Given the description of an element on the screen output the (x, y) to click on. 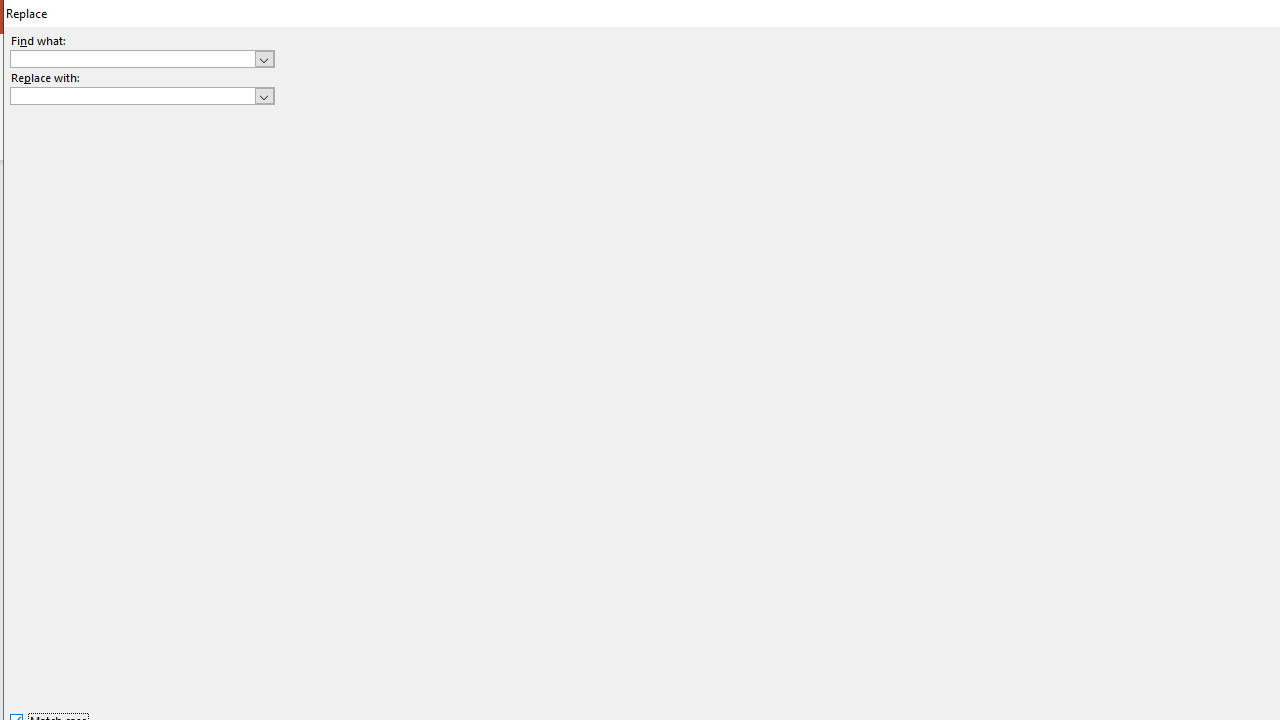
Replace with (132, 95)
Find what (132, 58)
Find what (142, 58)
Replace with (142, 96)
